Given the description of an element on the screen output the (x, y) to click on. 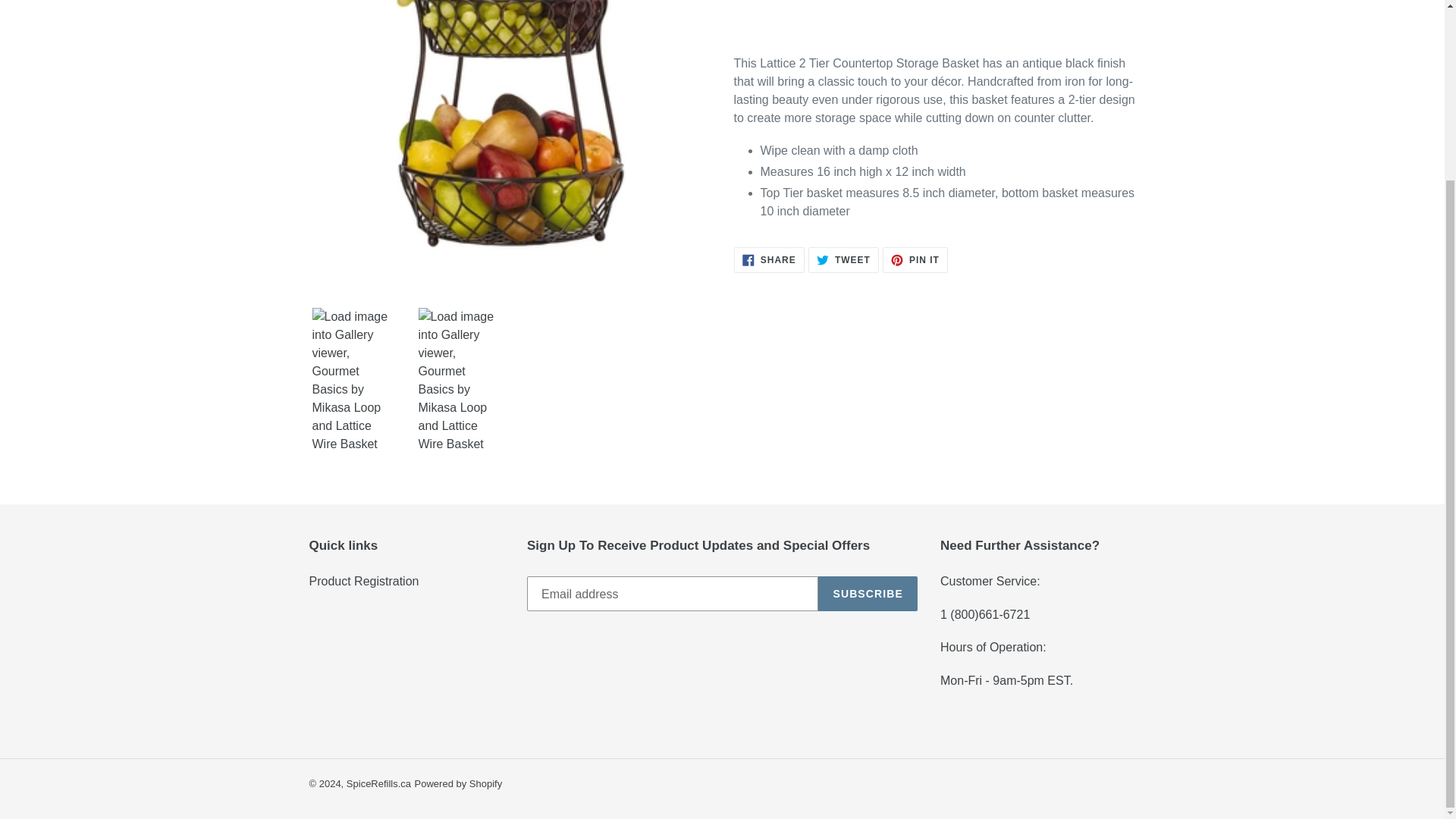
Powered by Shopify (458, 783)
Product Registration (769, 259)
SpiceRefills.ca (363, 581)
SUBSCRIBE (843, 259)
